Given the description of an element on the screen output the (x, y) to click on. 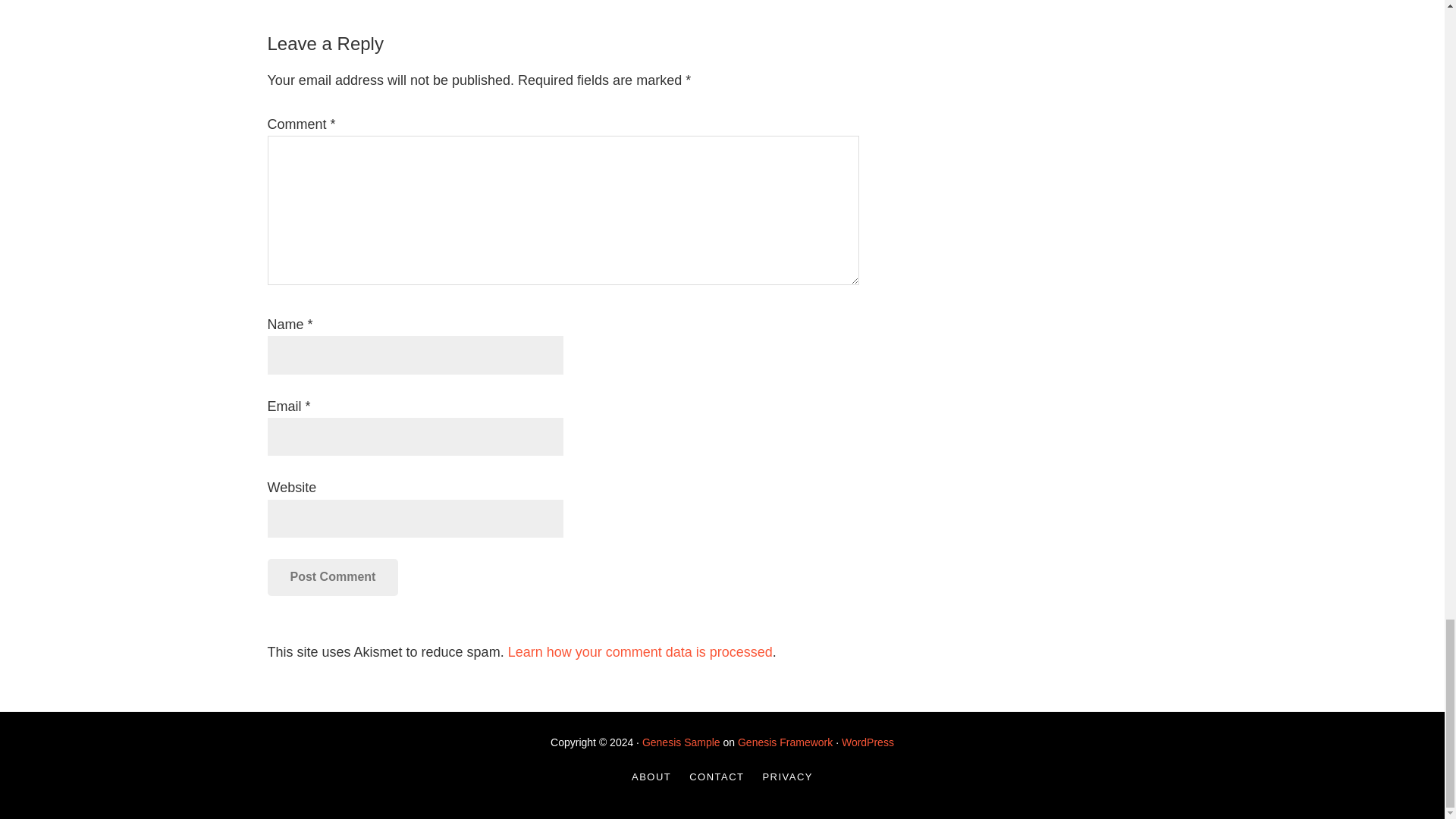
Post Comment (331, 576)
Learn how your comment data is processed (640, 652)
Post Comment (331, 576)
